Given the description of an element on the screen output the (x, y) to click on. 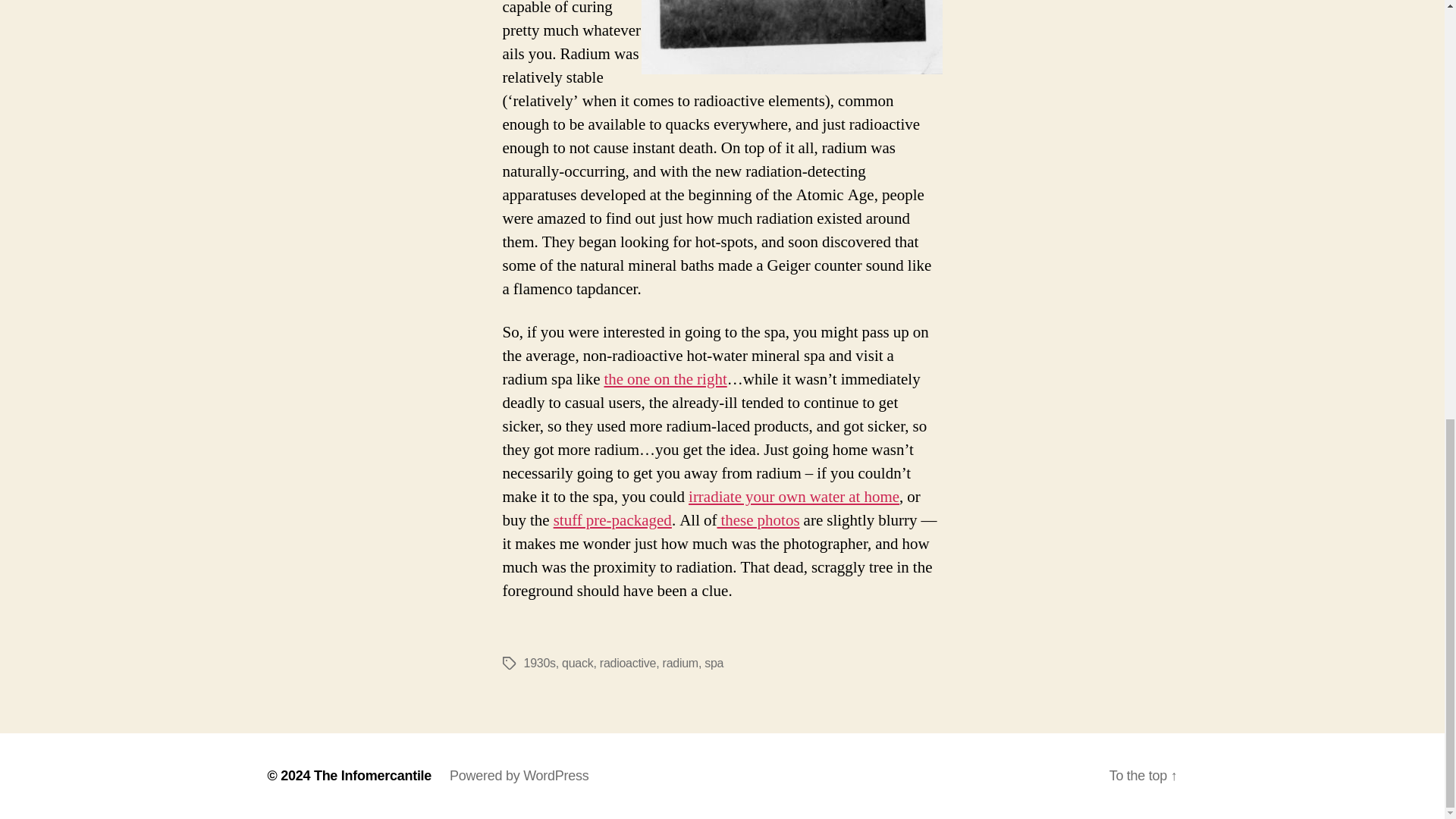
1930s (538, 662)
spa (713, 662)
radioactive (627, 662)
stuff pre-packaged (612, 520)
irradiate your own water at home (793, 496)
the one on the right (665, 379)
Powered by WordPress (518, 775)
radium (680, 662)
quack (577, 662)
these photos (757, 520)
The Infomercantile (372, 775)
